Given the description of an element on the screen output the (x, y) to click on. 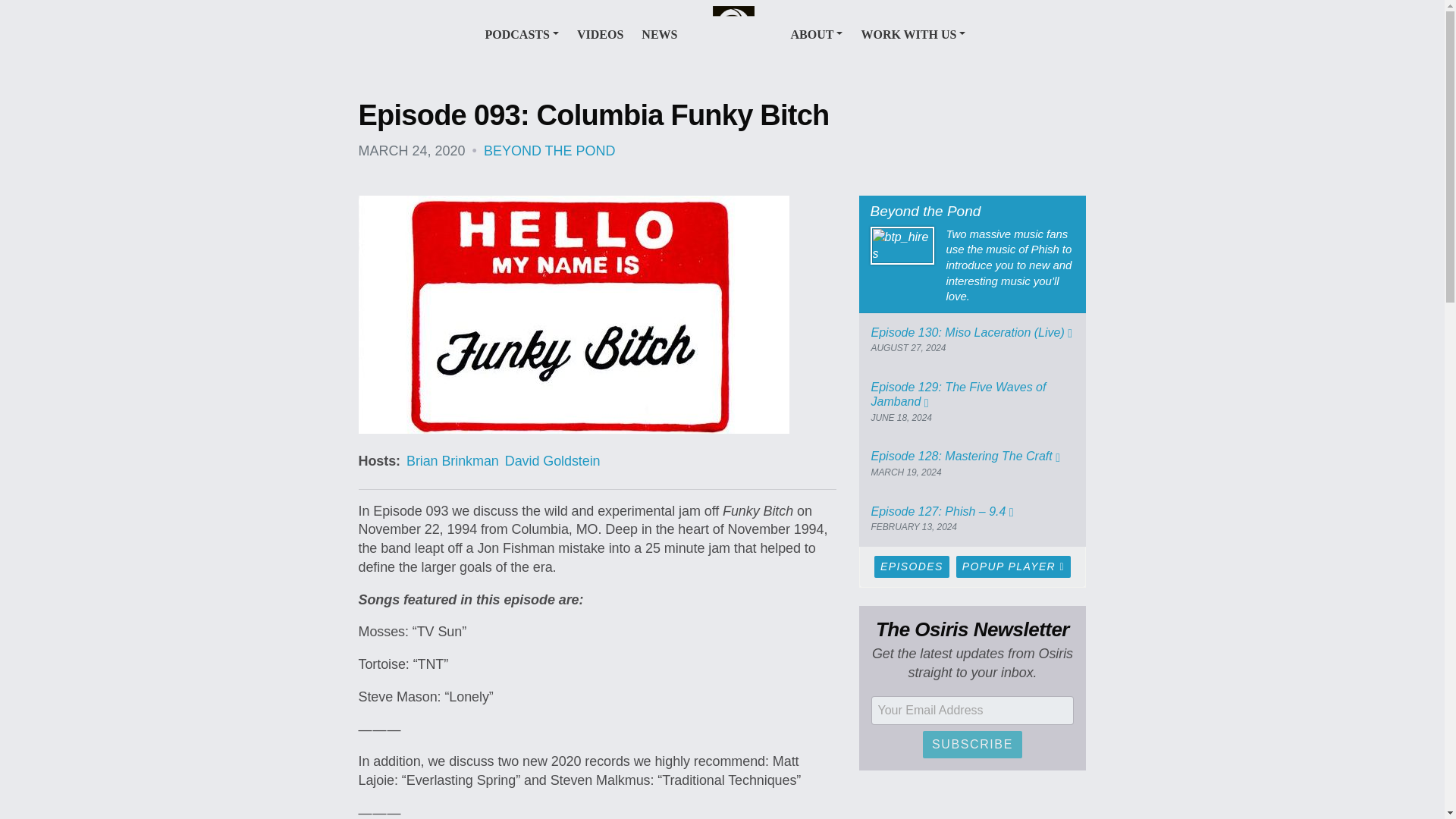
BEYOND THE POND (549, 150)
WORK WITH US (912, 33)
David Goldstein (552, 460)
Subscribe (972, 744)
Brian Brinkman (452, 460)
NEWS (659, 33)
PODCASTS (521, 33)
VIDEOS (599, 33)
ABOUT (816, 33)
